Given the description of an element on the screen output the (x, y) to click on. 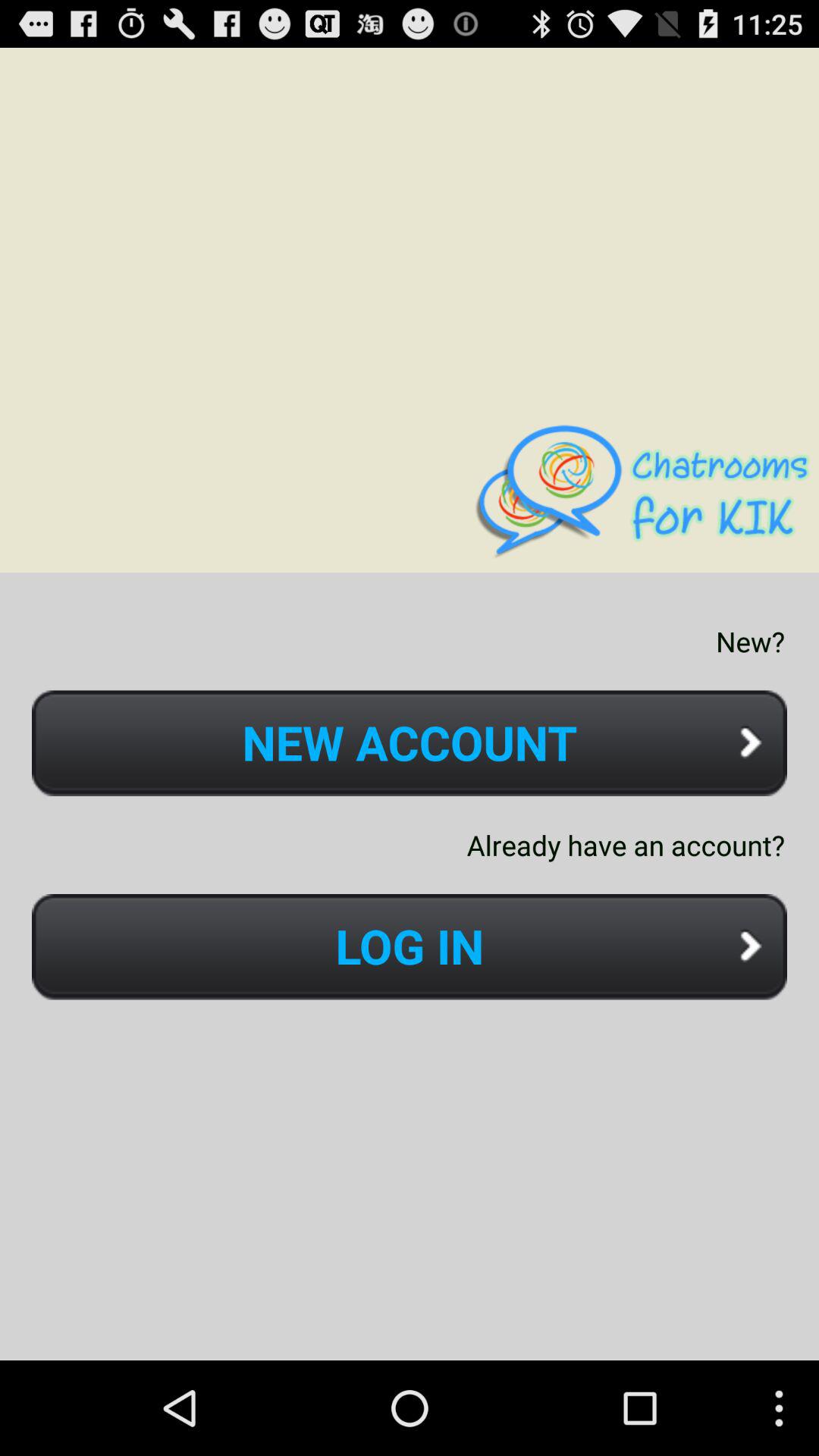
tap icon above already have an (409, 743)
